Given the description of an element on the screen output the (x, y) to click on. 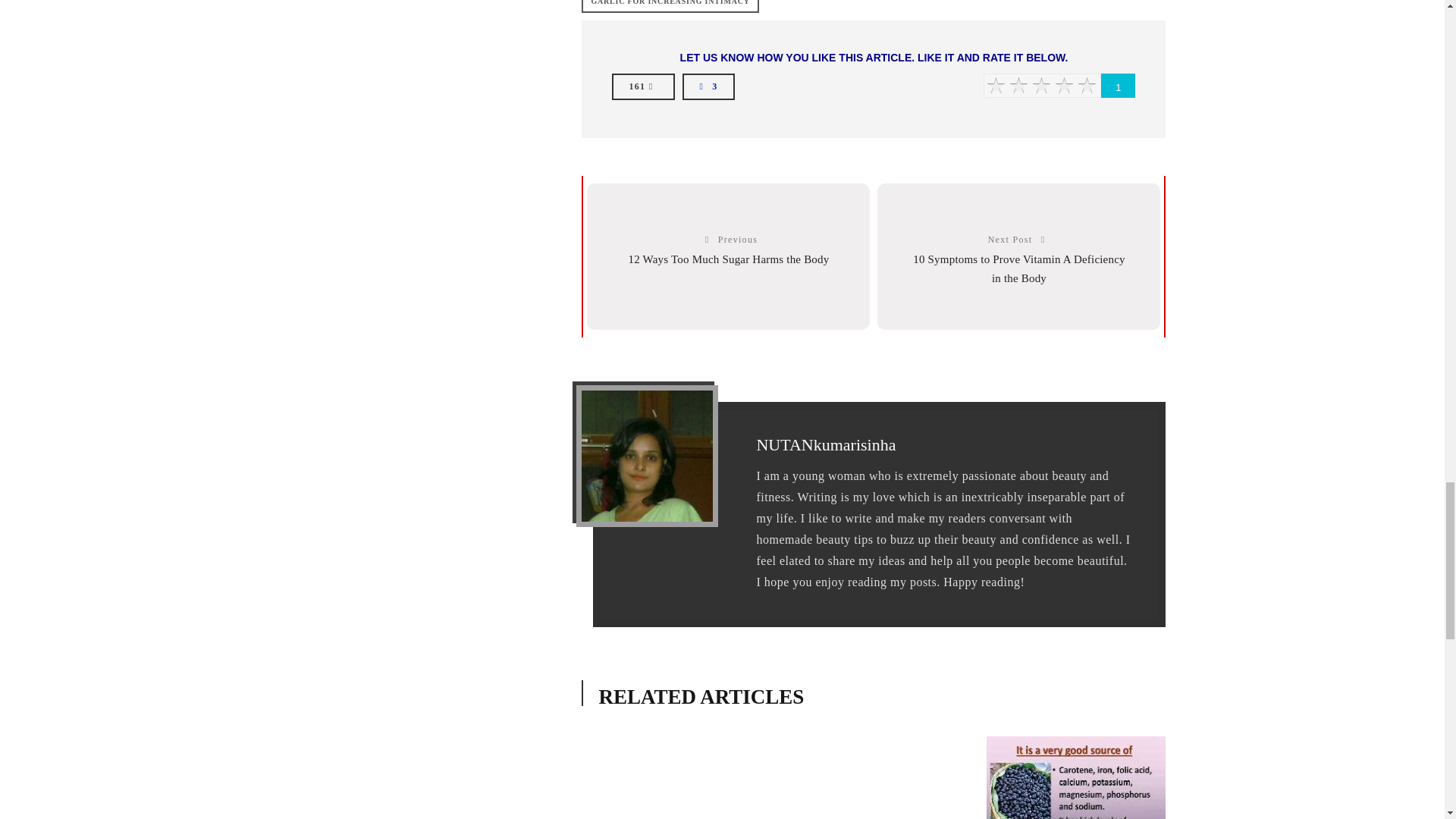
3 (707, 86)
10 Symptoms to Prove Vitamin A Deficiency in the Body (1018, 268)
NUTANkumarisinha (825, 444)
12 Ways Too Much Sugar Harms the Body (727, 259)
GARLIC FOR INCREASING INTIMACY (669, 6)
